Given the description of an element on the screen output the (x, y) to click on. 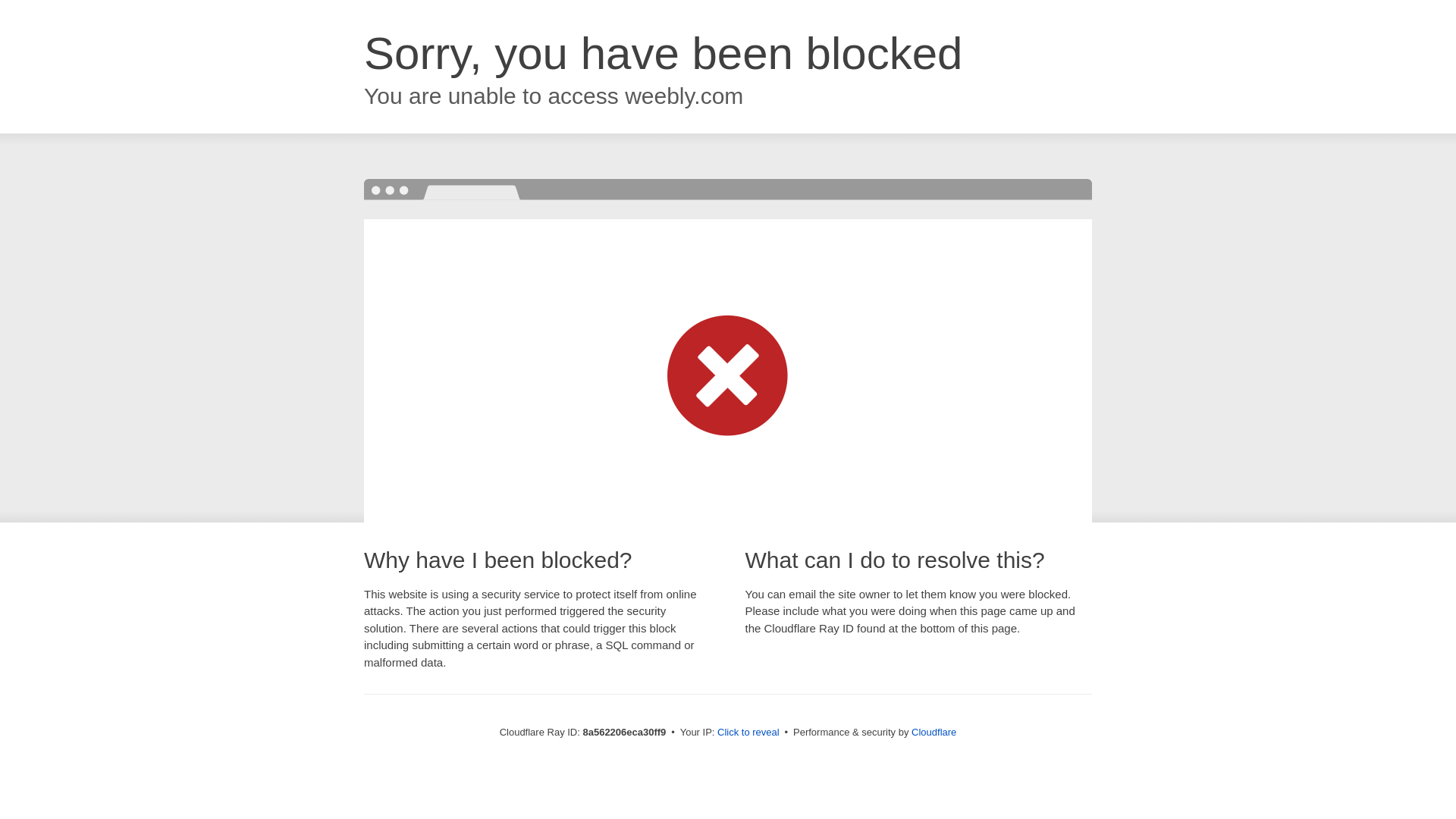
Cloudflare (933, 731)
Click to reveal (747, 732)
